Given the description of an element on the screen output the (x, y) to click on. 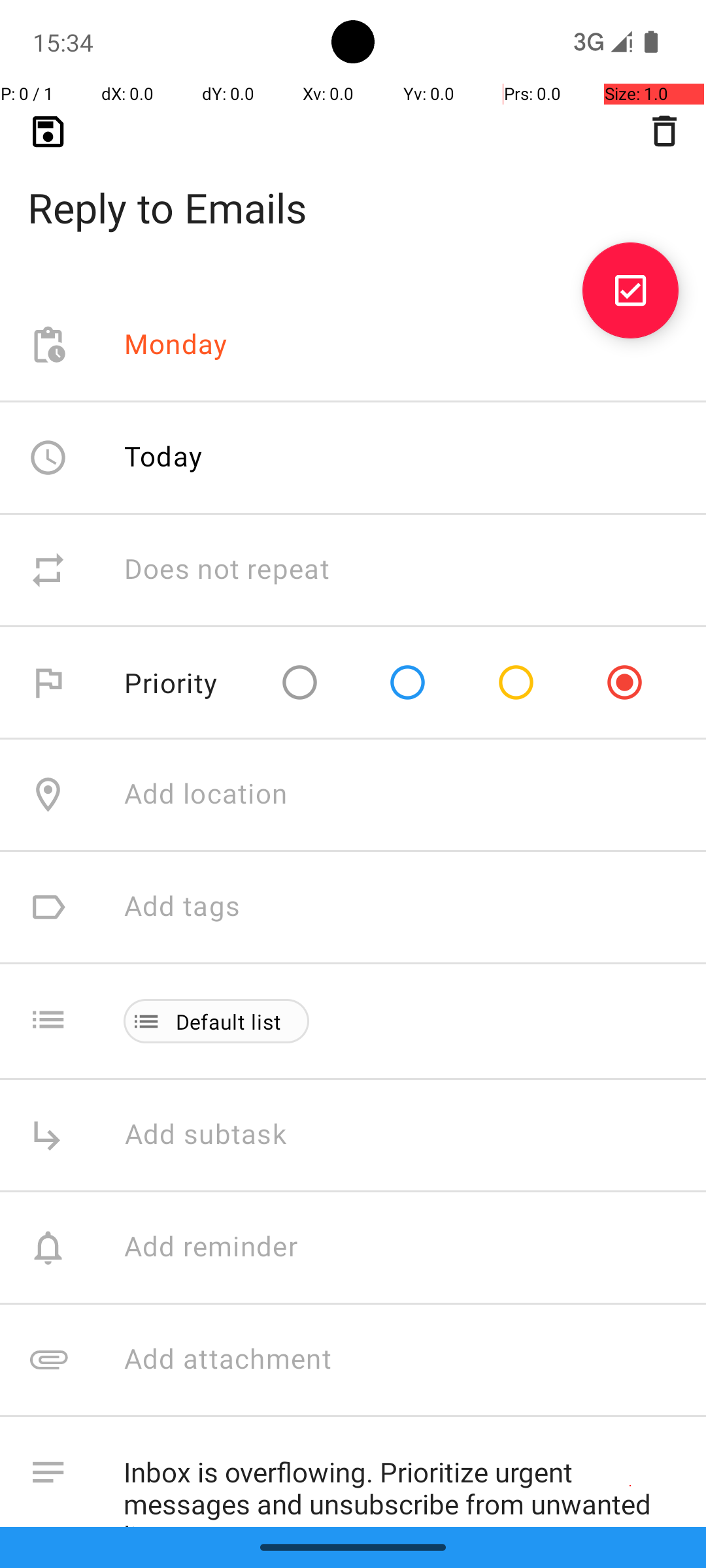
Inbox is overflowing. Prioritize urgent messages and unsubscribe from unwanted lists. Element type: android.widget.EditText (400, 1481)
